Given the description of an element on the screen output the (x, y) to click on. 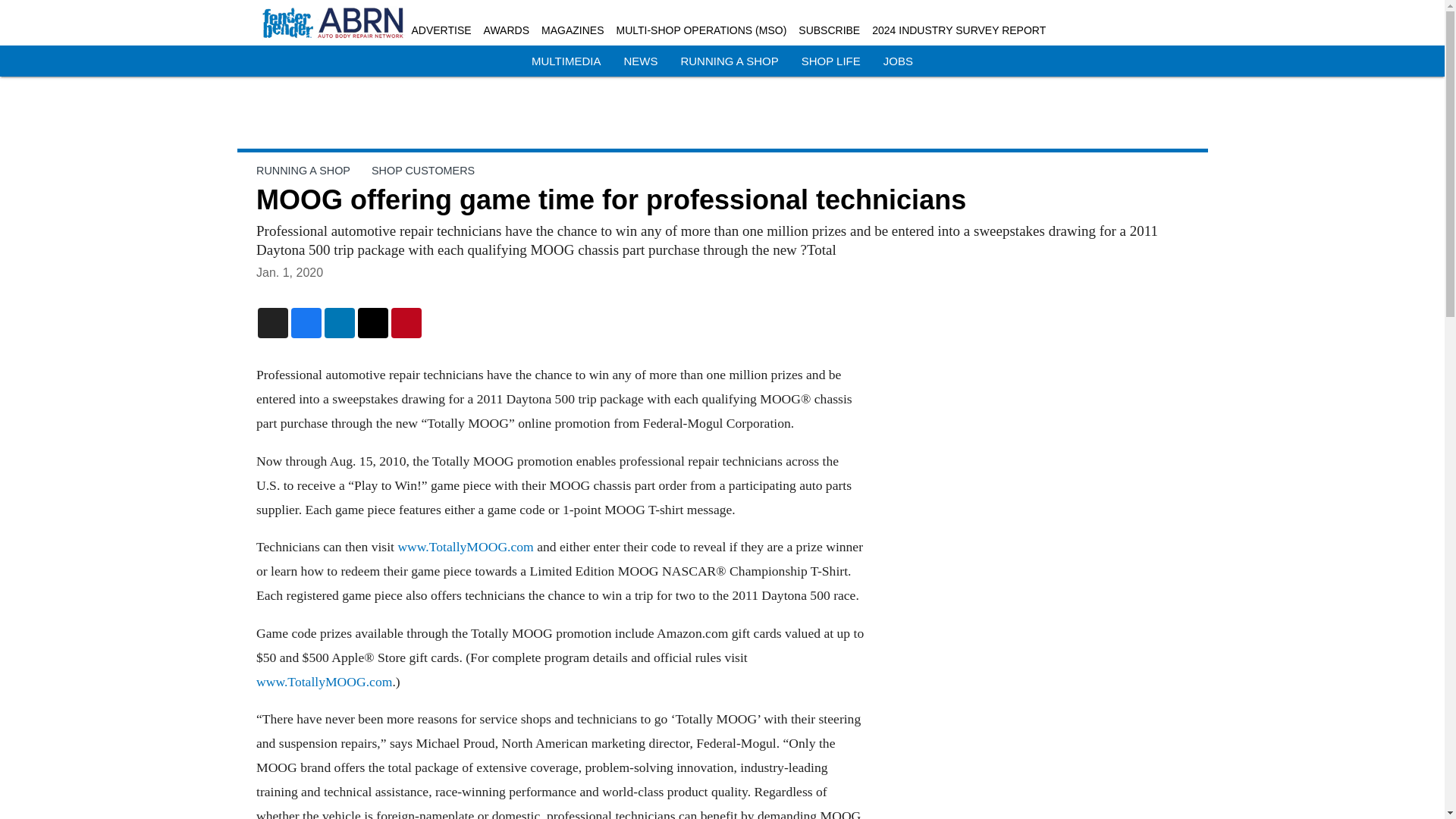
MULTIMEDIA (565, 60)
AWARDS (506, 30)
SHOP LIFE (831, 60)
www.TotallyMOOG.com (323, 680)
NEWS (640, 60)
RUNNING A SHOP (728, 60)
2024 INDUSTRY SURVEY REPORT (958, 30)
www.TotallyMOOG.com (464, 546)
RUNNING A SHOP (303, 170)
ADVERTISE (440, 30)
MAGAZINES (572, 30)
SUBSCRIBE (828, 30)
SHOP CUSTOMERS (422, 170)
JOBS (897, 60)
